Given the description of an element on the screen output the (x, y) to click on. 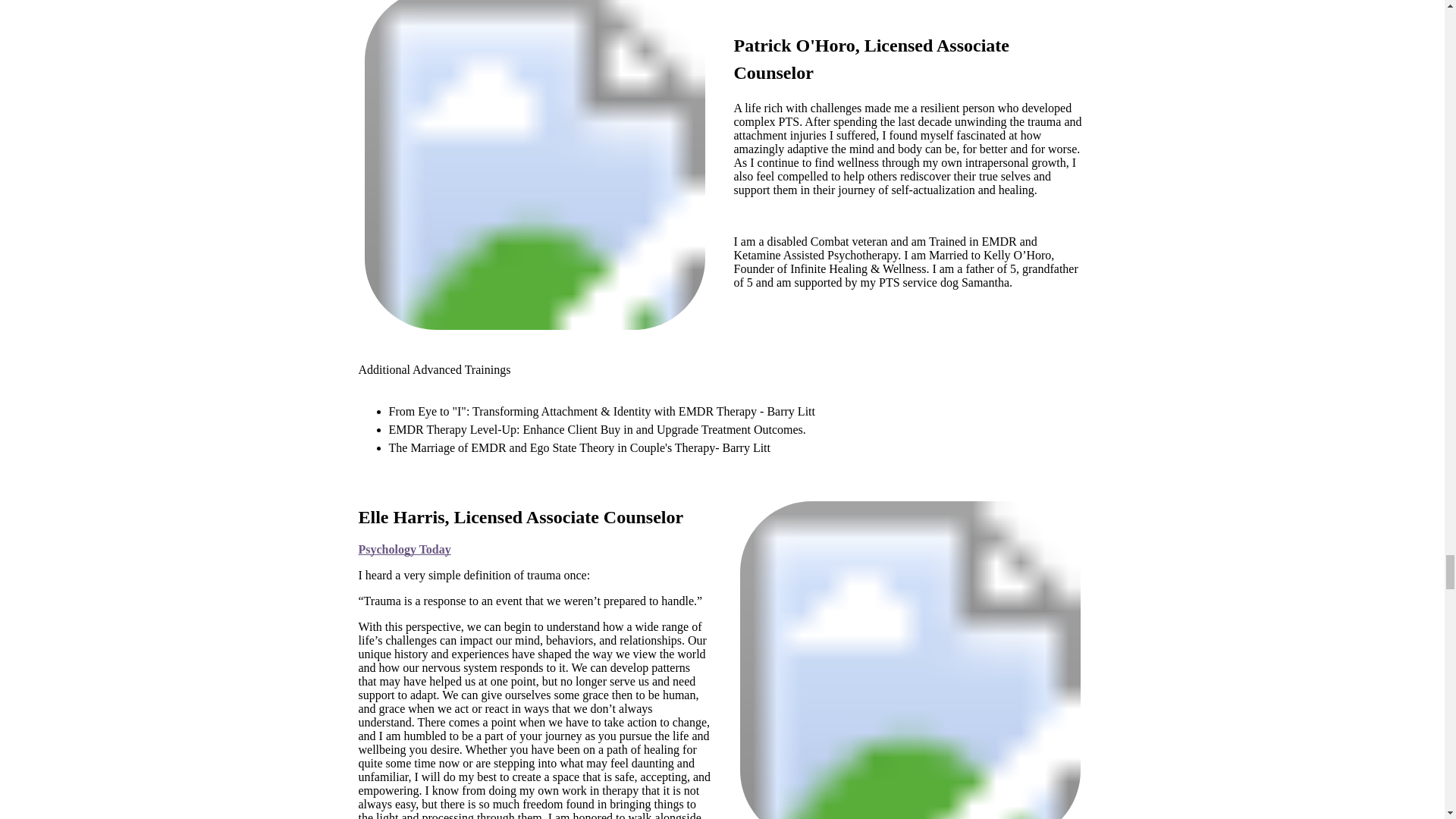
Brenda Stewart - Phoenix, AZ - Infinite Healing and Wellness (534, 165)
Elle Harris - Phoenix, AZ - Infinite Healing and Wellness (909, 660)
